Given the description of an element on the screen output the (x, y) to click on. 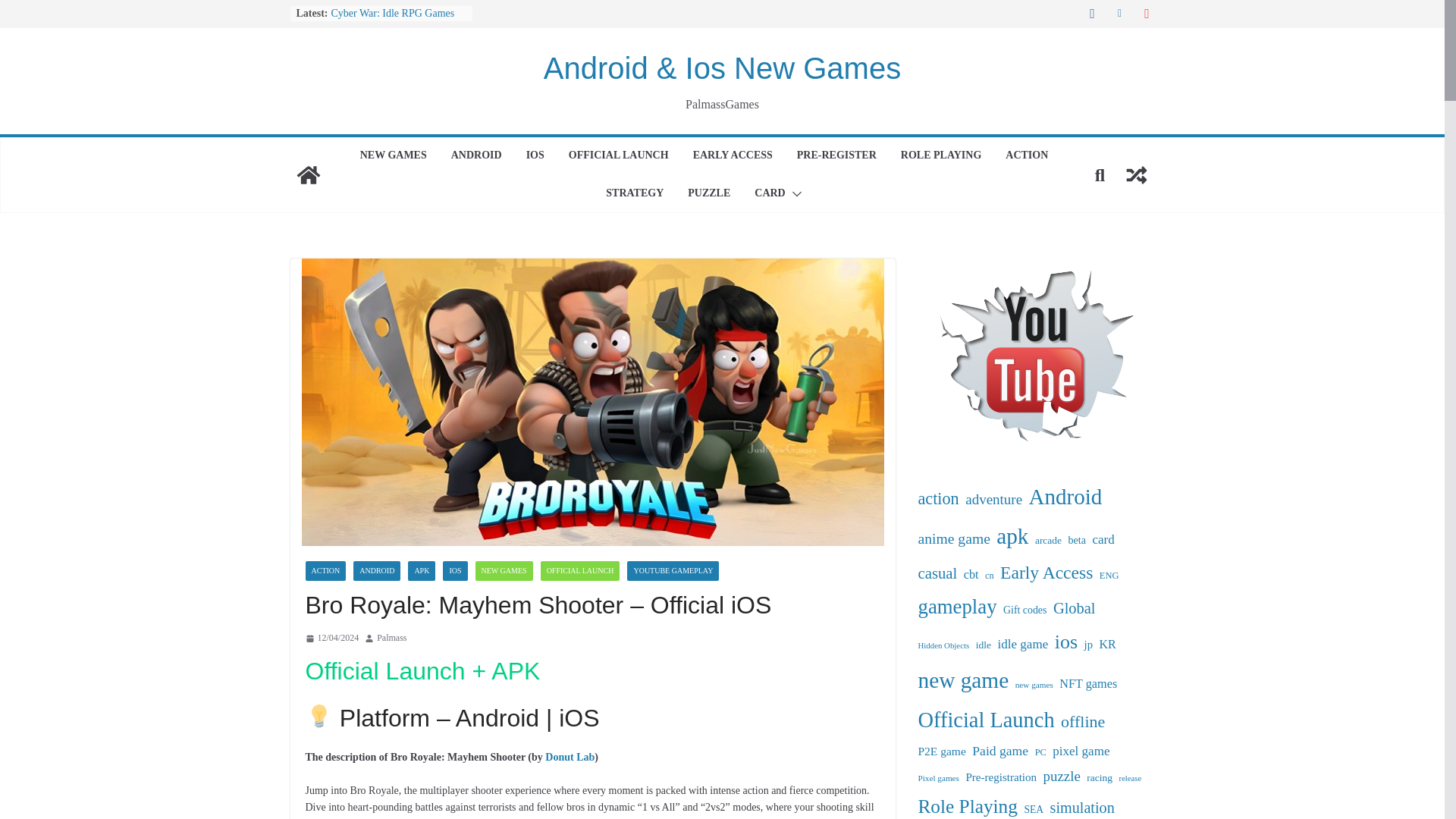
07:00 (331, 638)
CARD (769, 193)
View a random post (1136, 175)
OFFICIAL LAUNCH (618, 155)
Cyber War: Idle RPG Games (392, 12)
Cyber War: Idle RPG Games (392, 12)
ACTION (1027, 155)
Palmass (391, 638)
NEW GAMES (392, 155)
PRE-REGISTER (836, 155)
EARLY ACCESS (733, 155)
PUZZLE (708, 193)
STRATEGY (634, 193)
ANDROID (476, 155)
ROLE PLAYING (941, 155)
